Given the description of an element on the screen output the (x, y) to click on. 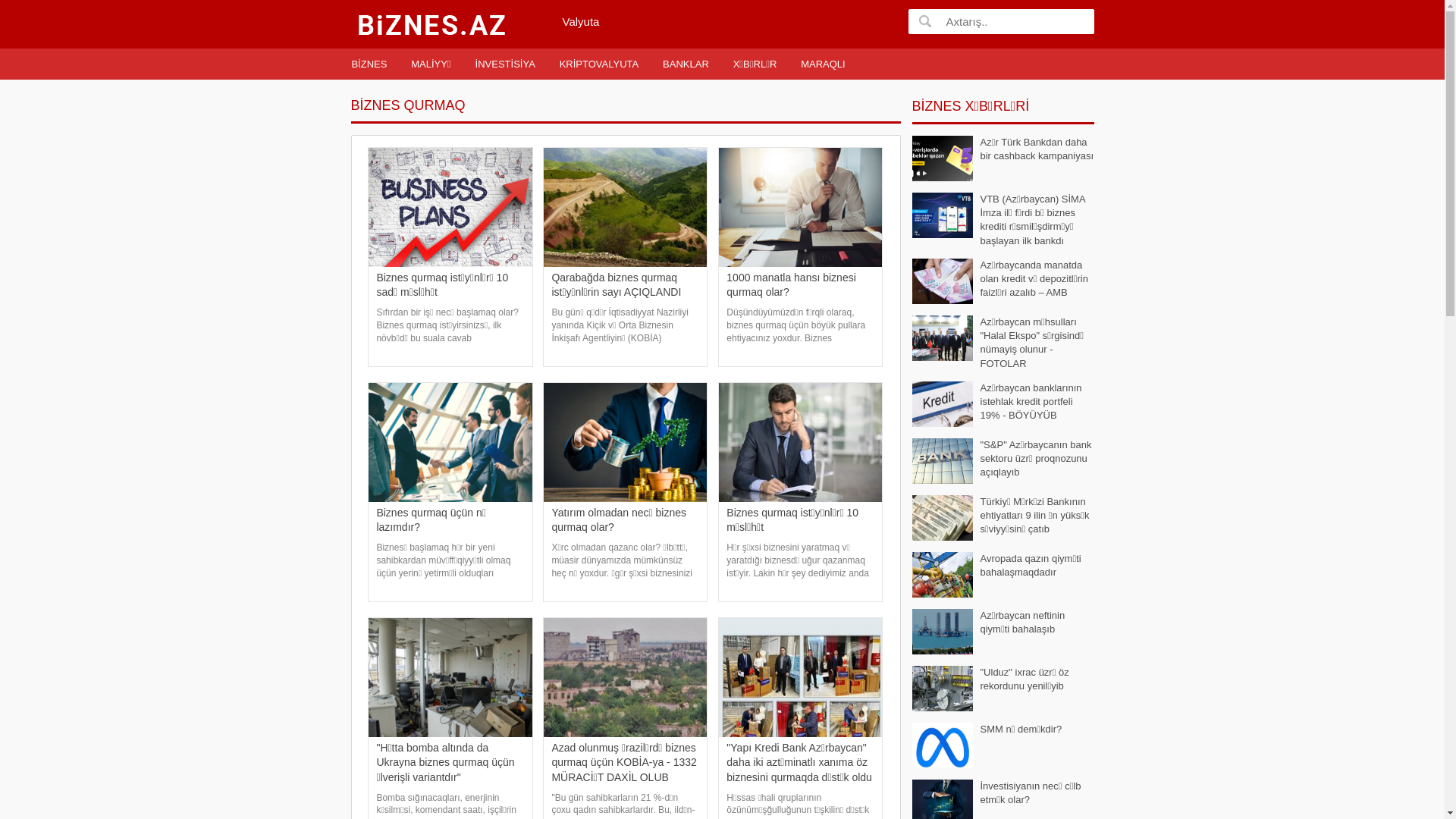
Valyuta Element type: text (581, 21)
BIZNES Element type: text (368, 63)
KRIPTOVALYUTA Element type: text (599, 63)
MARAQLI Element type: text (823, 63)
BANKLAR Element type: text (685, 63)
  Element type: text (925, 20)
